Given the description of an element on the screen output the (x, y) to click on. 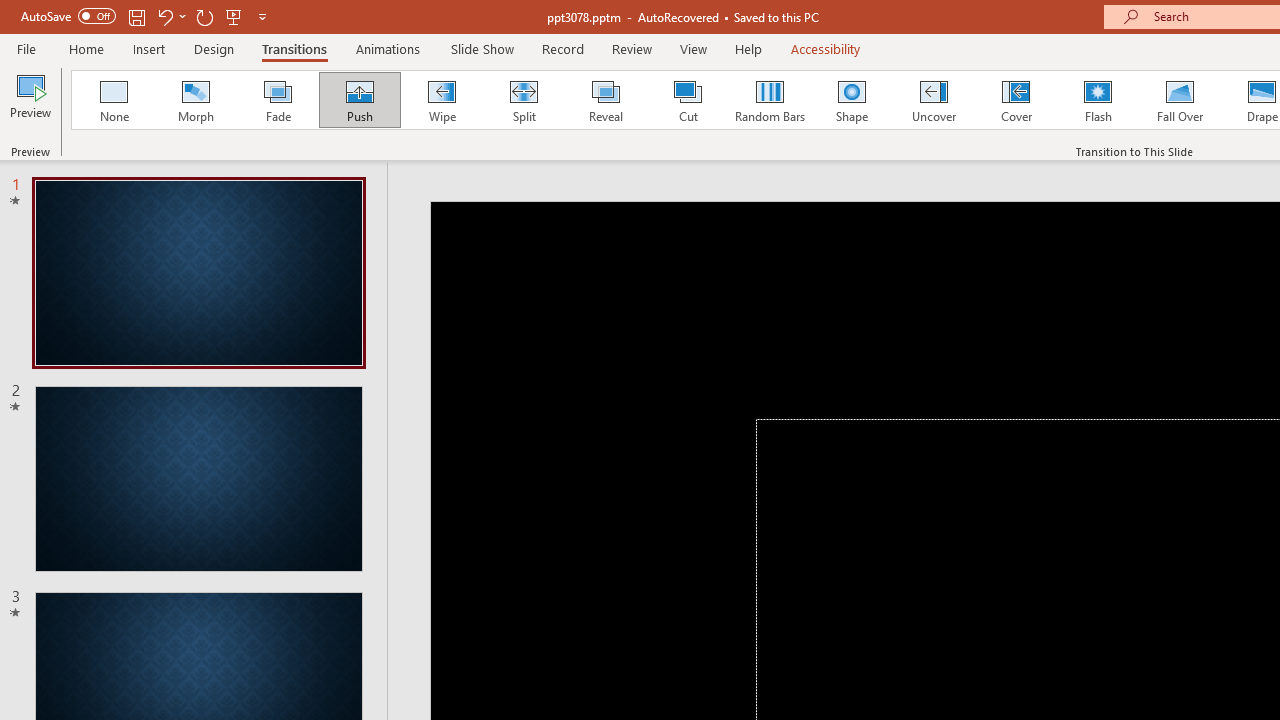
Push (359, 100)
Uncover (934, 100)
